Given the description of an element on the screen output the (x, y) to click on. 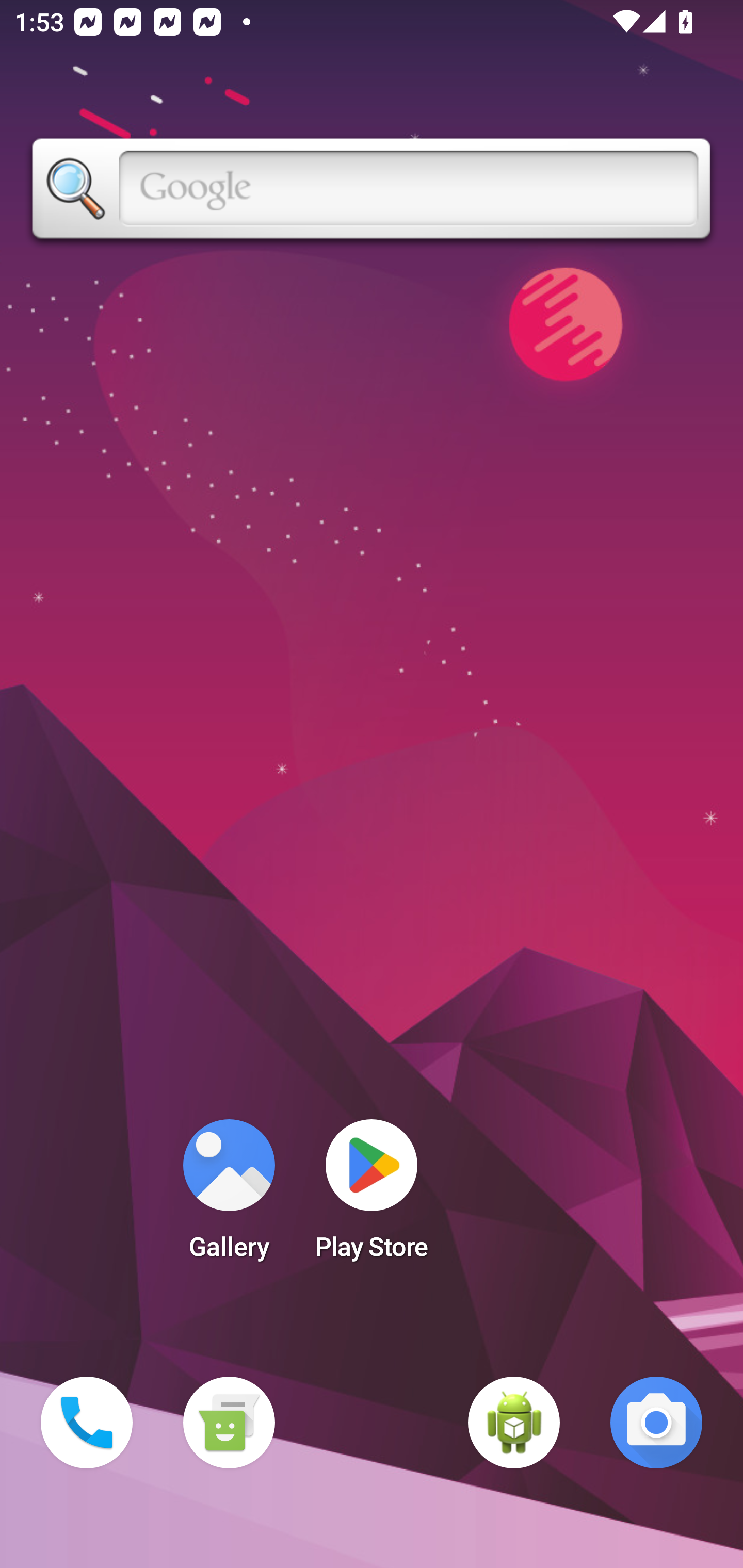
Gallery (228, 1195)
Play Store (371, 1195)
Phone (86, 1422)
Messaging (228, 1422)
WebView Browser Tester (513, 1422)
Camera (656, 1422)
